Given the description of an element on the screen output the (x, y) to click on. 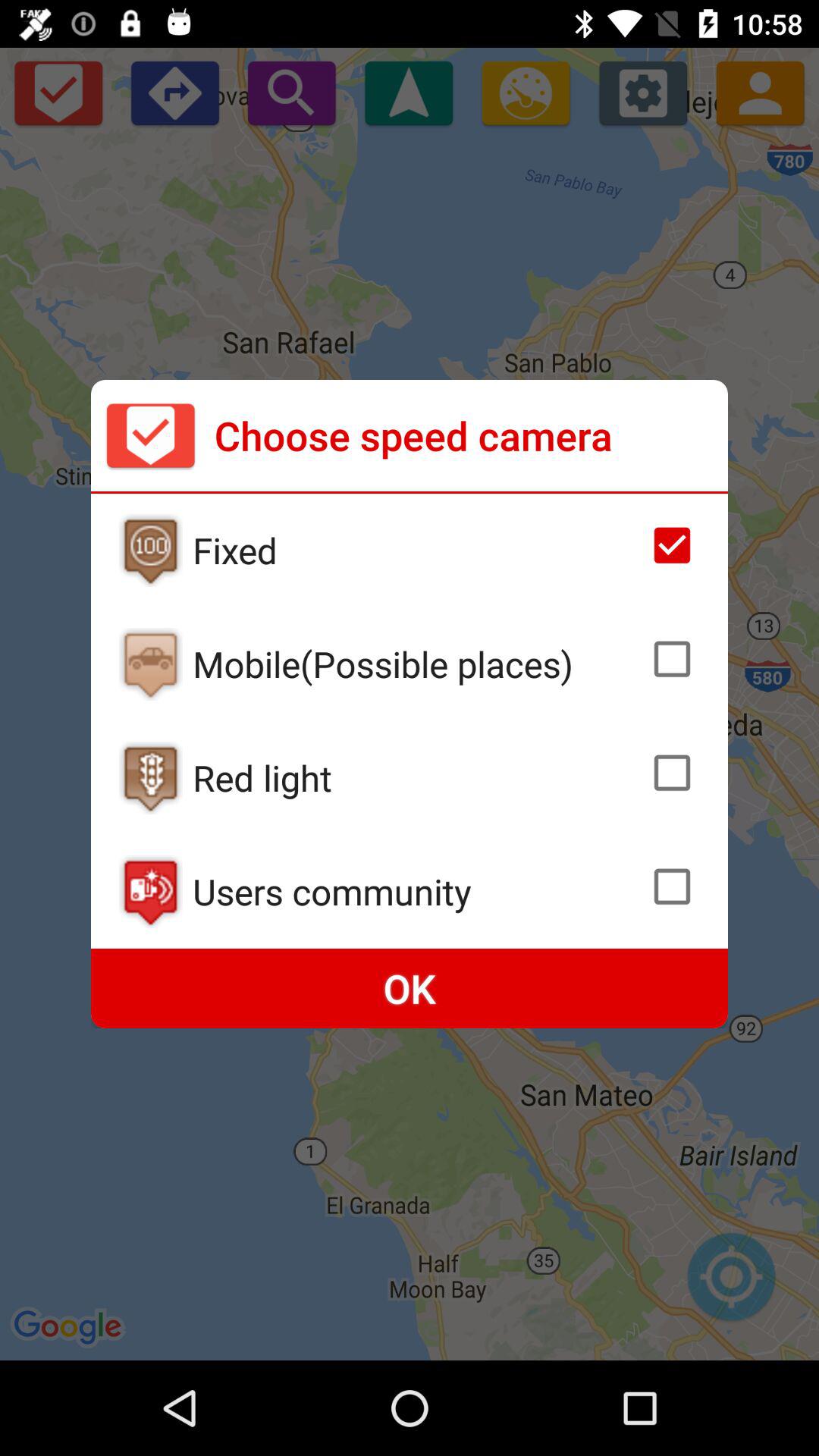
turn on icon at the top left corner (150, 435)
